Given the description of an element on the screen output the (x, y) to click on. 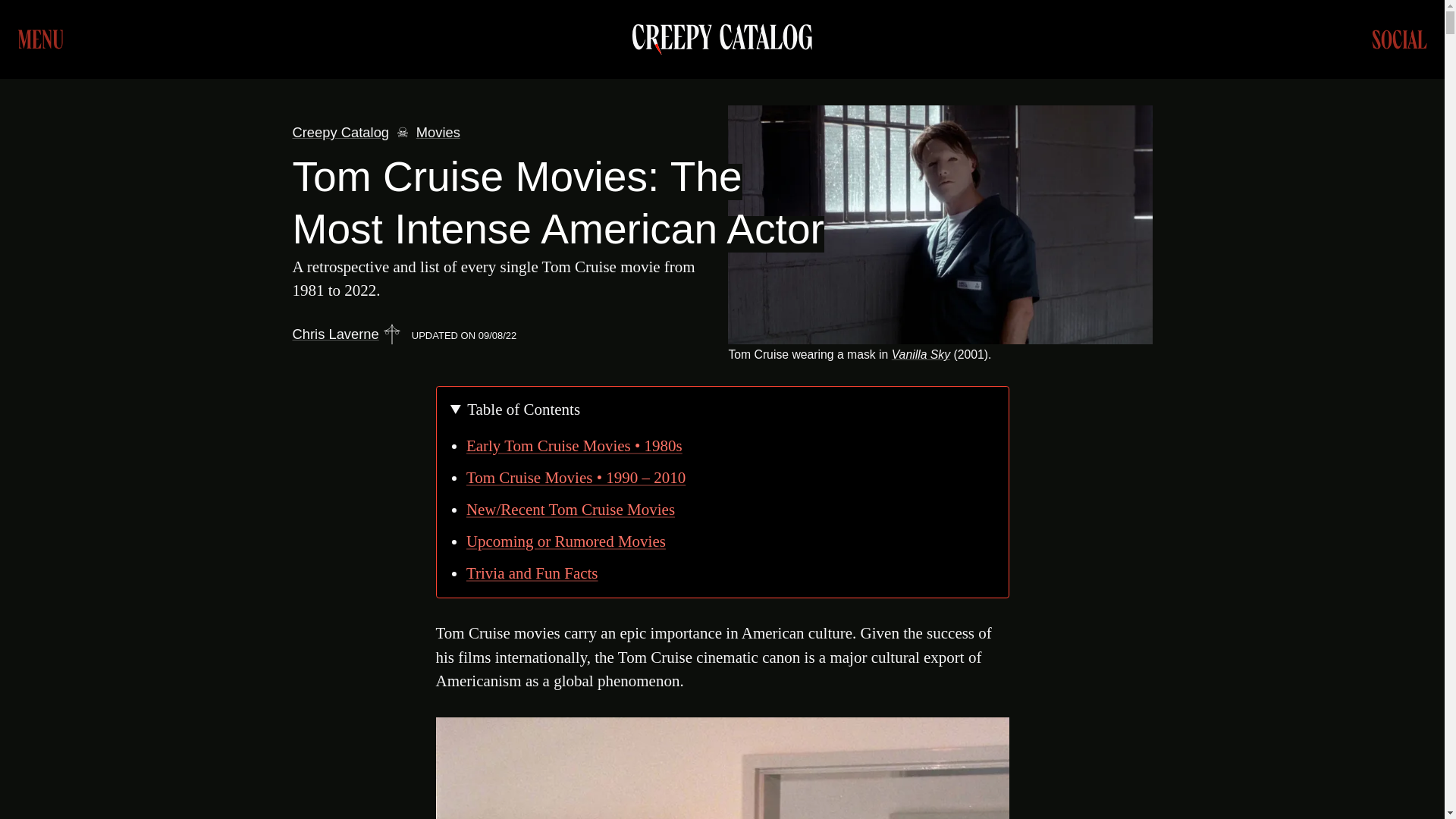
Chris Laverne (335, 333)
Movies (438, 132)
Trivia and Fun Facts (734, 573)
Creepy Catalog (341, 132)
Vanilla Sky (920, 354)
Creepy Catalog (721, 39)
Posts by Chris Laverne (335, 333)
Upcoming or Rumored Movies (734, 541)
